Given the description of an element on the screen output the (x, y) to click on. 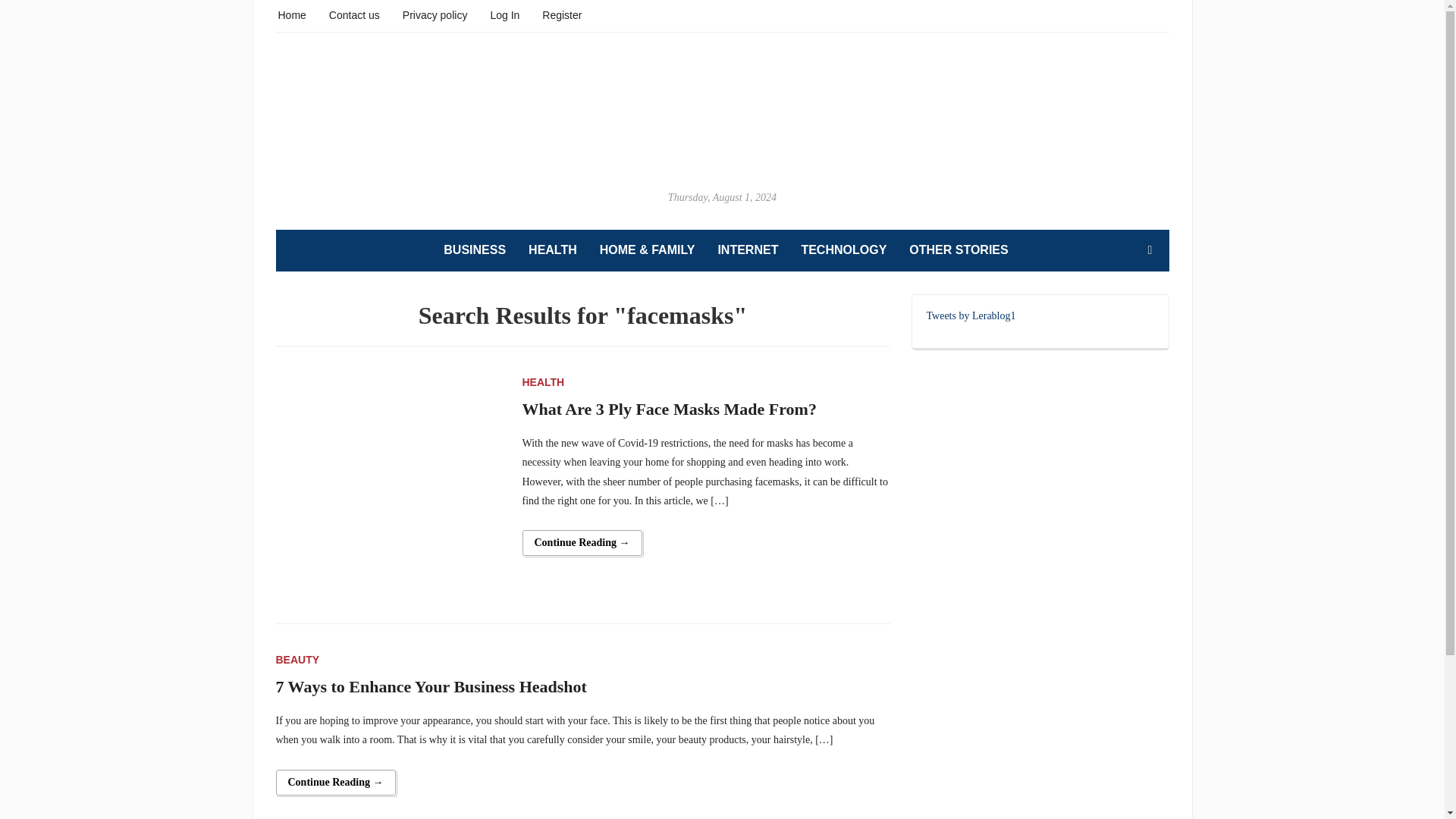
Permalink to 7 Ways to Enhance Your Business Headshot (336, 782)
Log In (504, 14)
Permalink to What Are 3 Ply Face Masks Made From? (581, 542)
Register (560, 14)
Search (1149, 250)
What Are 3 Ply Face Masks Made From? (389, 485)
Contact us (354, 14)
Home (291, 14)
Privacy policy (435, 14)
